Given the description of an element on the screen output the (x, y) to click on. 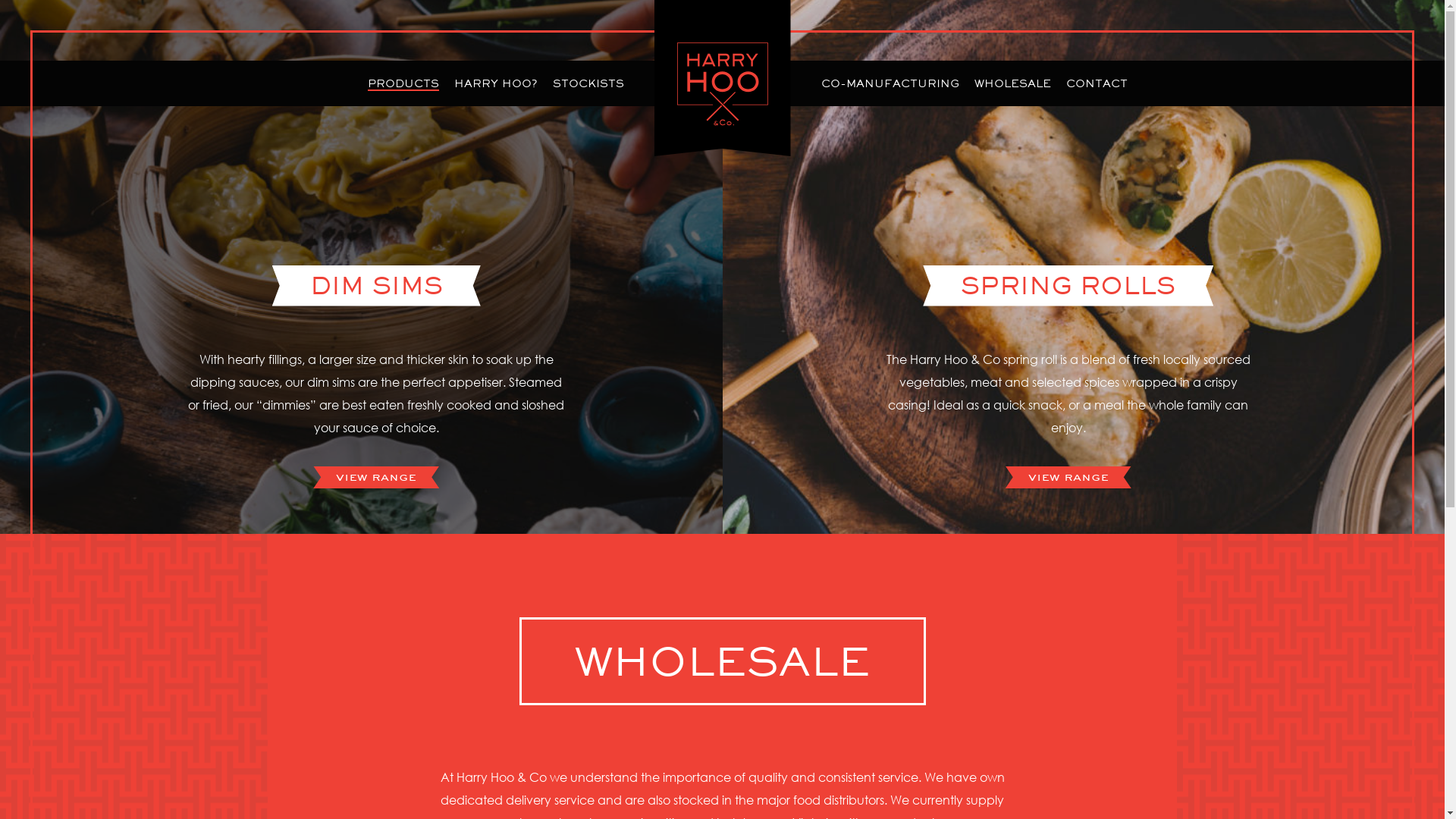
WHOLESALE Element type: text (1011, 83)
PRODUCTS Element type: text (402, 84)
STOCKISTS Element type: text (587, 83)
view range Element type: text (1068, 477)
view range Element type: text (376, 477)
CO-MANUFACTURING Element type: text (889, 83)
HARRY HOO? Element type: text (494, 83)
CONTACT Element type: text (1096, 83)
